Given the description of an element on the screen output the (x, y) to click on. 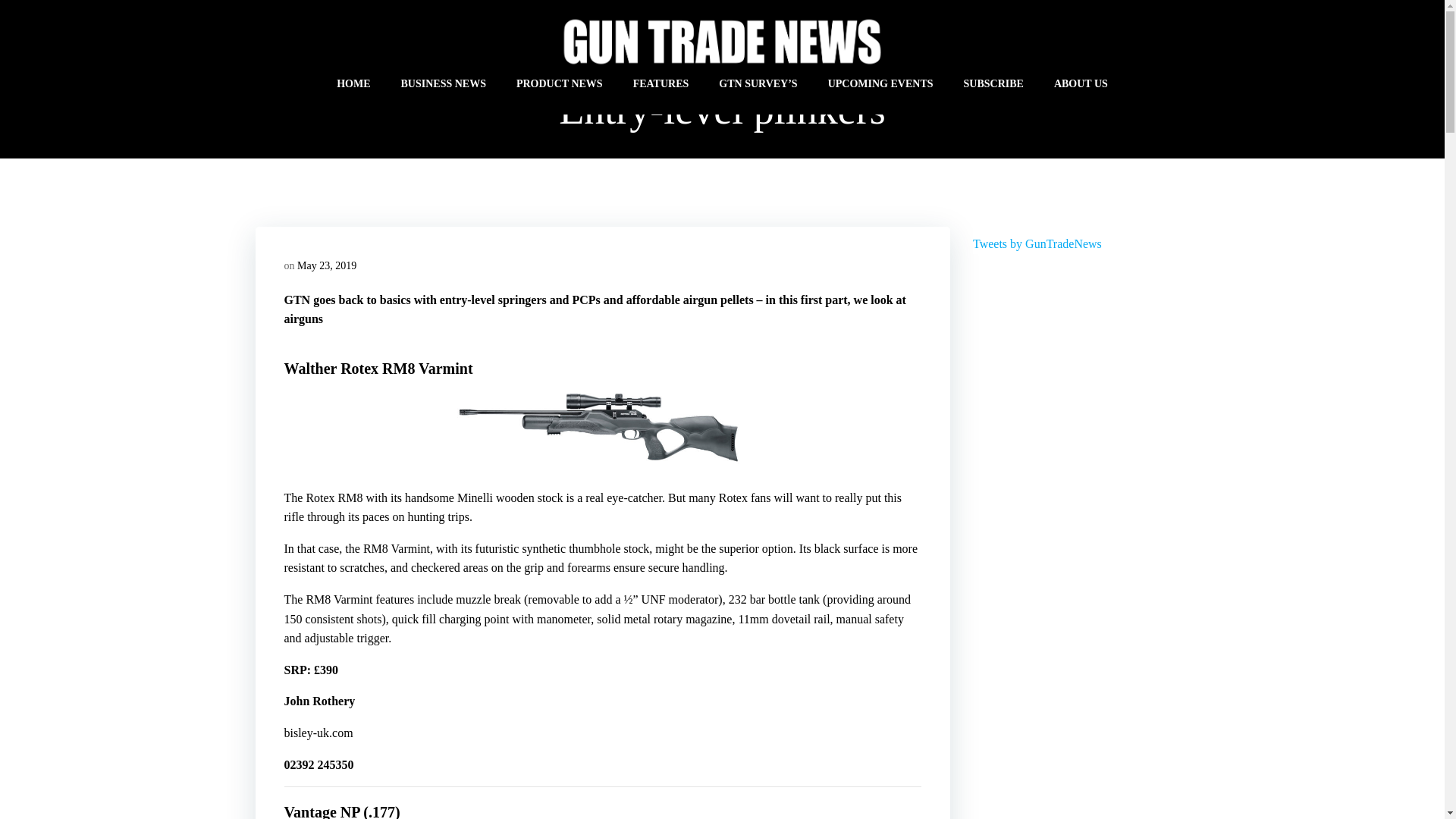
May 23, 2019 (326, 265)
UPCOMING EVENTS (880, 83)
BUSINESS NEWS (442, 83)
HOME (352, 83)
ABOUT US (1081, 83)
SUBSCRIBE (993, 83)
PRODUCT NEWS (559, 83)
FEATURES (660, 83)
Tweets by GunTradeNews (1037, 243)
bisley-uk.com (317, 732)
